Given the description of an element on the screen output the (x, y) to click on. 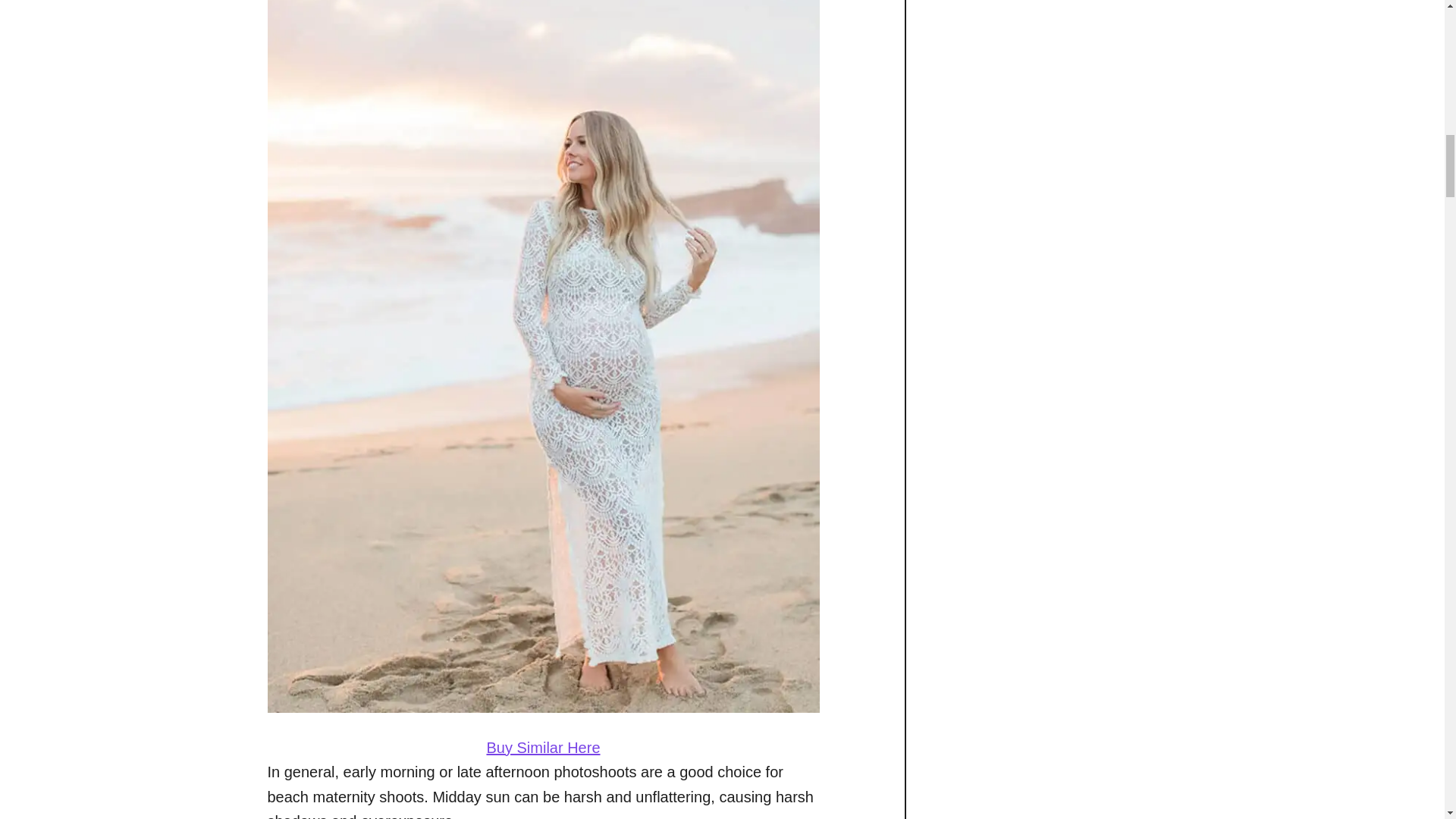
Buy Similar Here (542, 747)
